Given the description of an element on the screen output the (x, y) to click on. 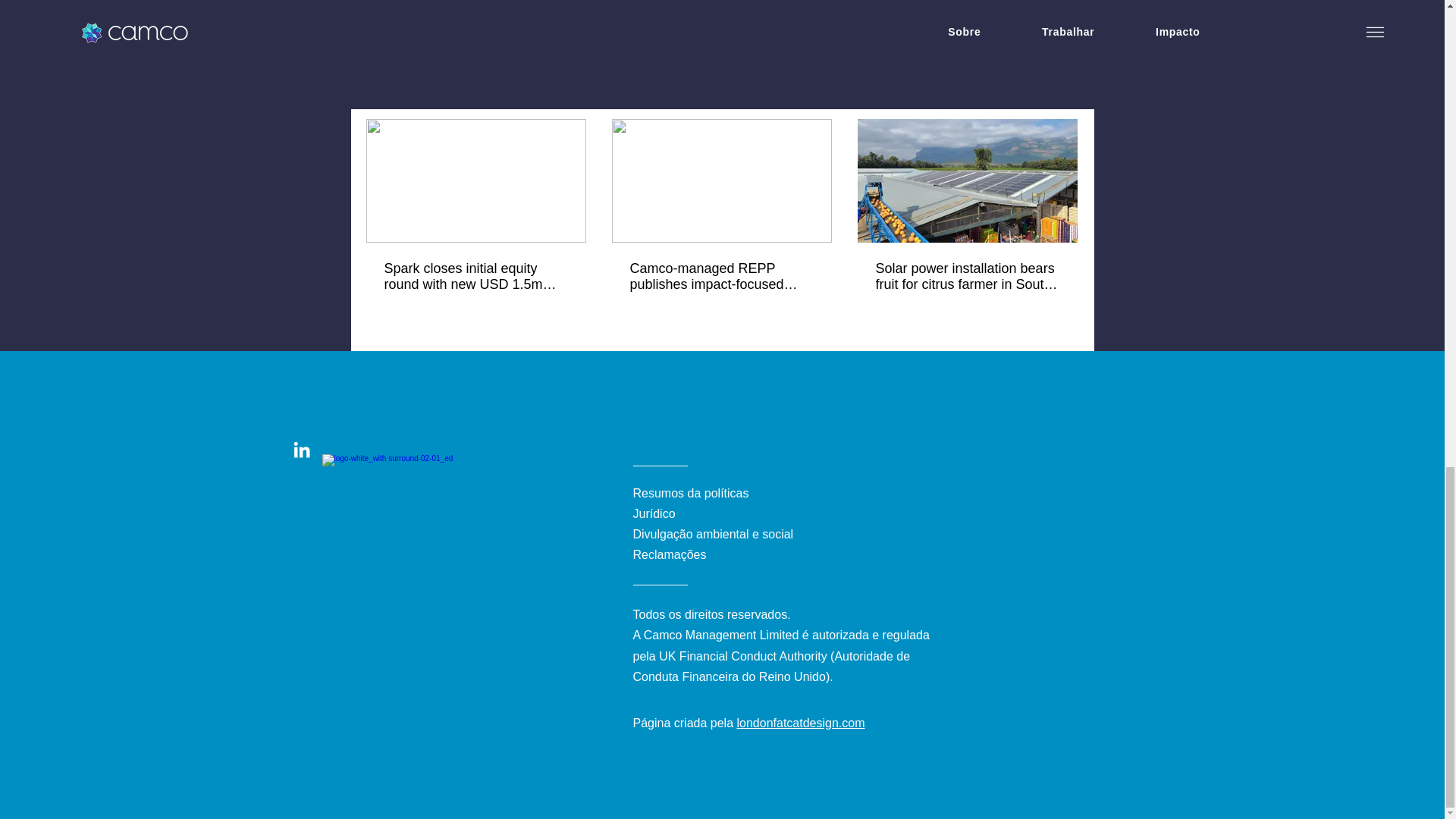
londonfatcatdesign.com (800, 722)
Camco-managed REPP publishes impact-focused annual report (720, 276)
